Given the description of an element on the screen output the (x, y) to click on. 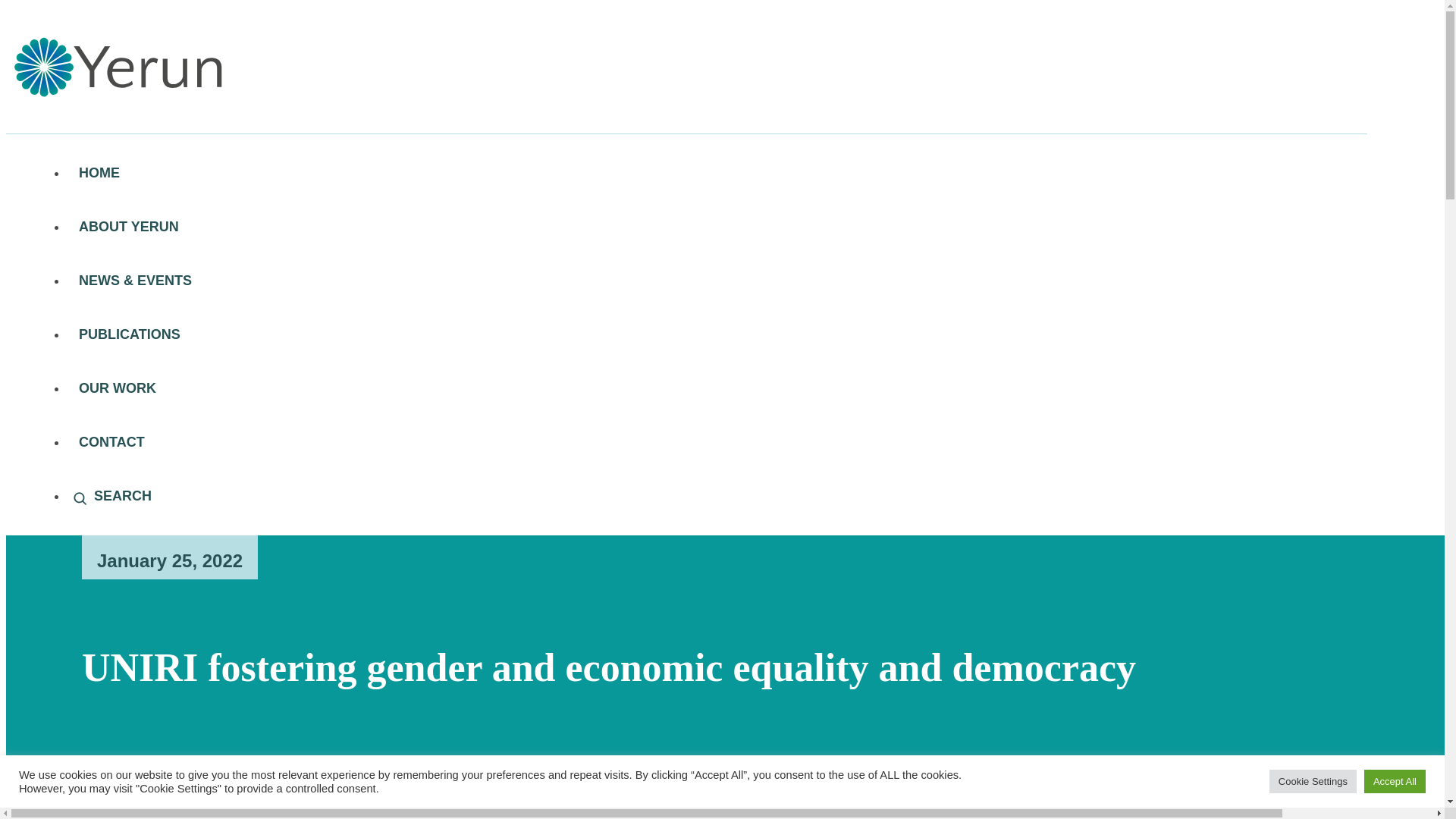
ABOUT YERUN (716, 226)
CONTACT (716, 442)
SEARCH (716, 496)
HOME (716, 172)
PUBLICATIONS (716, 334)
OUR WORK (716, 388)
